Given the description of an element on the screen output the (x, y) to click on. 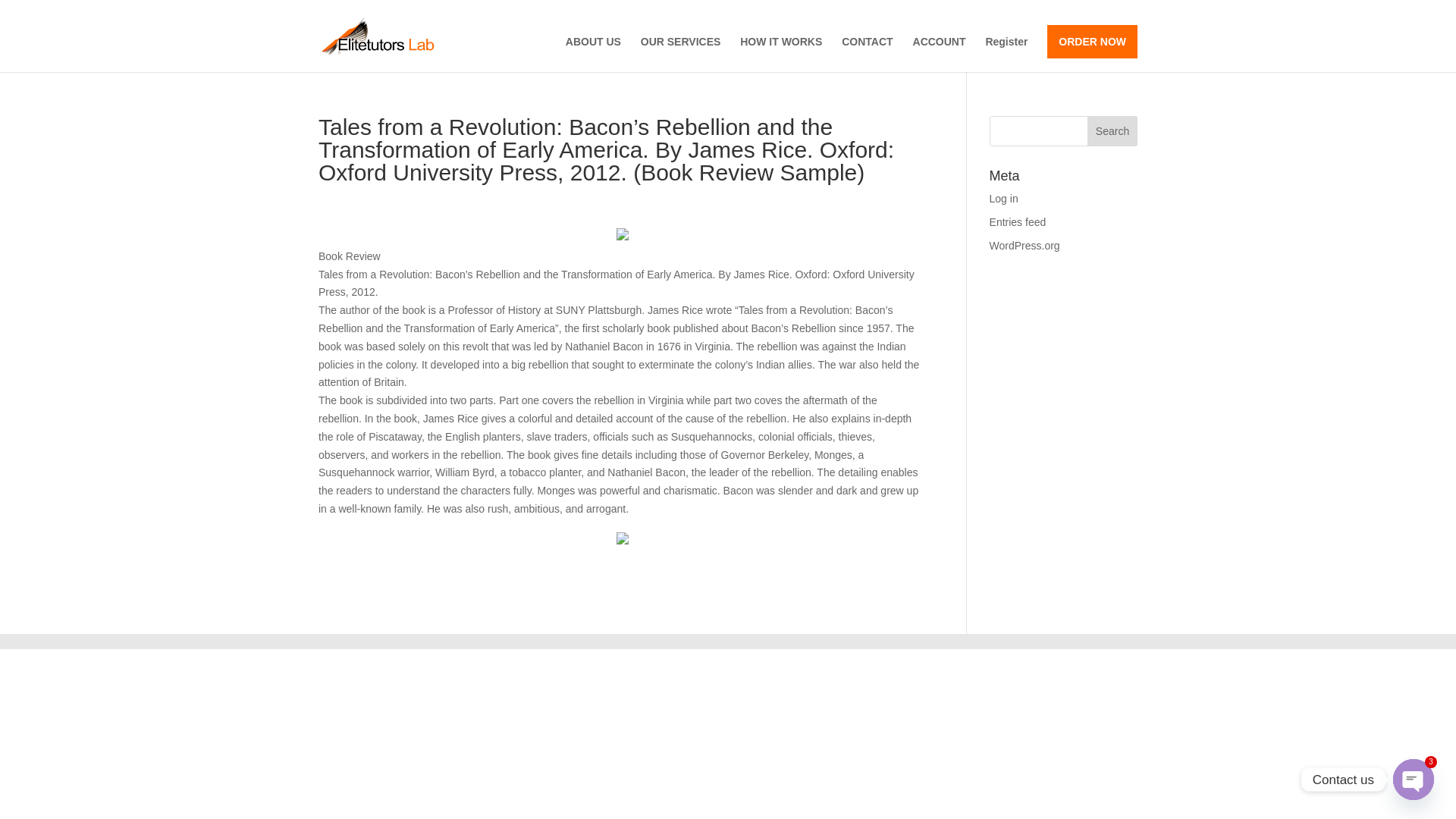
HOW IT WORKS (780, 54)
ORDER NOW (1091, 41)
Register (1006, 54)
OUR SERVICES (680, 54)
WordPress.org (1024, 245)
Search (1112, 131)
ABOUT US (593, 54)
Log in (1003, 198)
Entries feed (1018, 222)
ACCOUNT (939, 54)
Search (1112, 131)
CONTACT (866, 54)
